Given the description of an element on the screen output the (x, y) to click on. 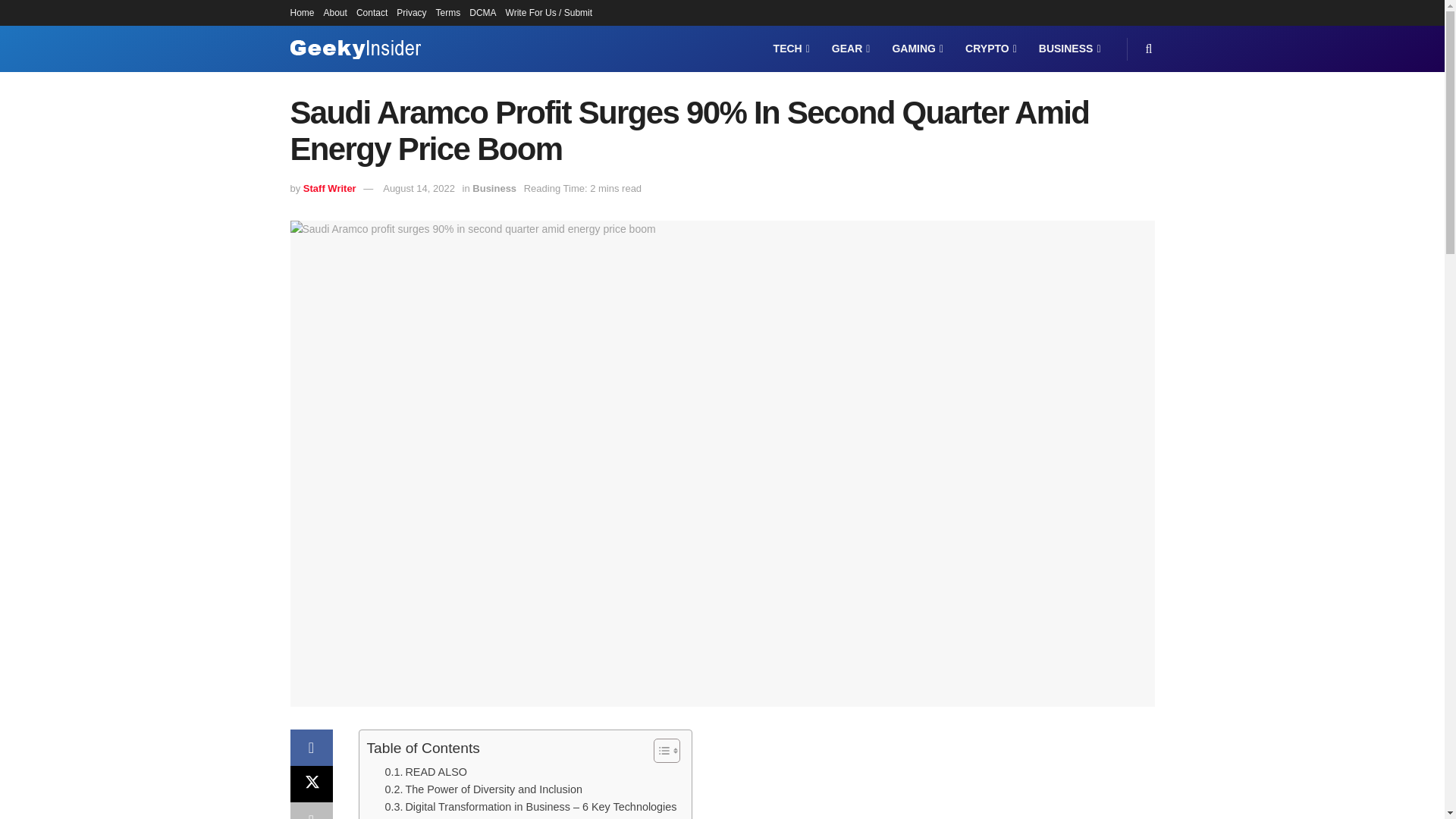
TECH (790, 48)
About (335, 12)
Contact (371, 12)
Terms (448, 12)
READ ALSO (426, 772)
Privacy (411, 12)
Home (301, 12)
DCMA (482, 12)
GEAR (849, 48)
Major gains (402, 817)
